Given the description of an element on the screen output the (x, y) to click on. 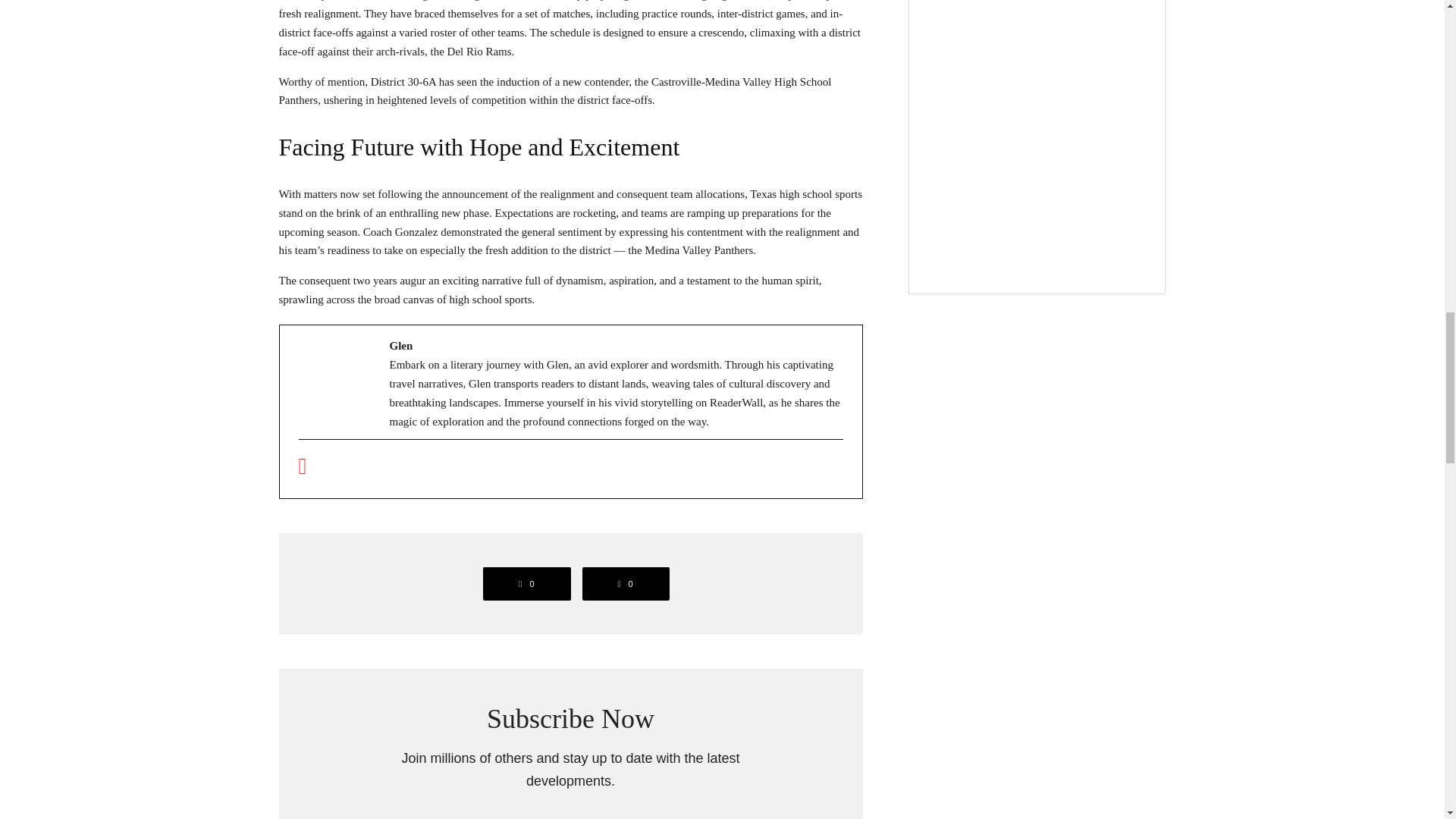
E-mail (302, 469)
